Given the description of an element on the screen output the (x, y) to click on. 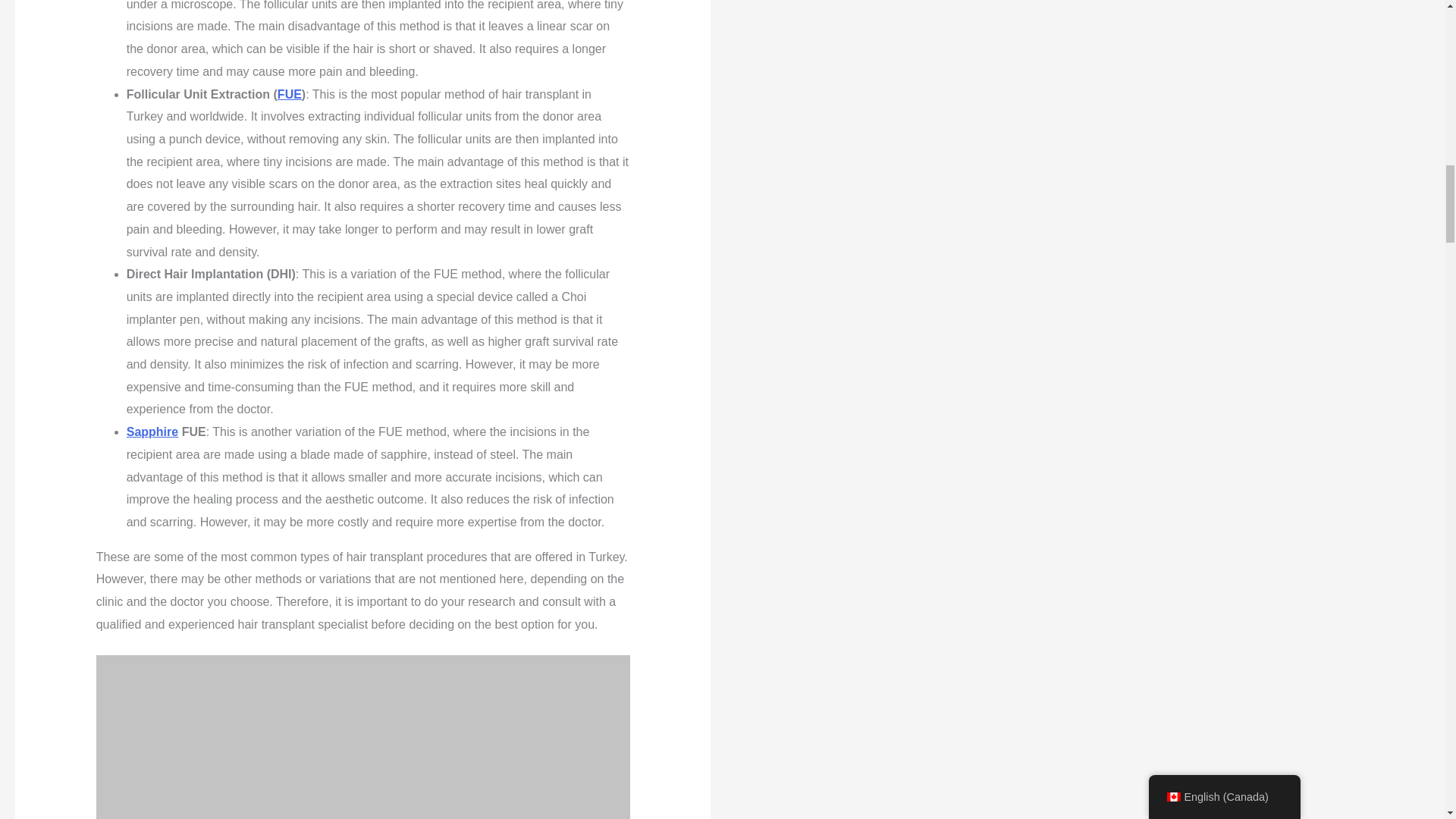
FUE (289, 93)
FUE (289, 93)
Sapphire (151, 431)
Sapphire (151, 431)
